Given the description of an element on the screen output the (x, y) to click on. 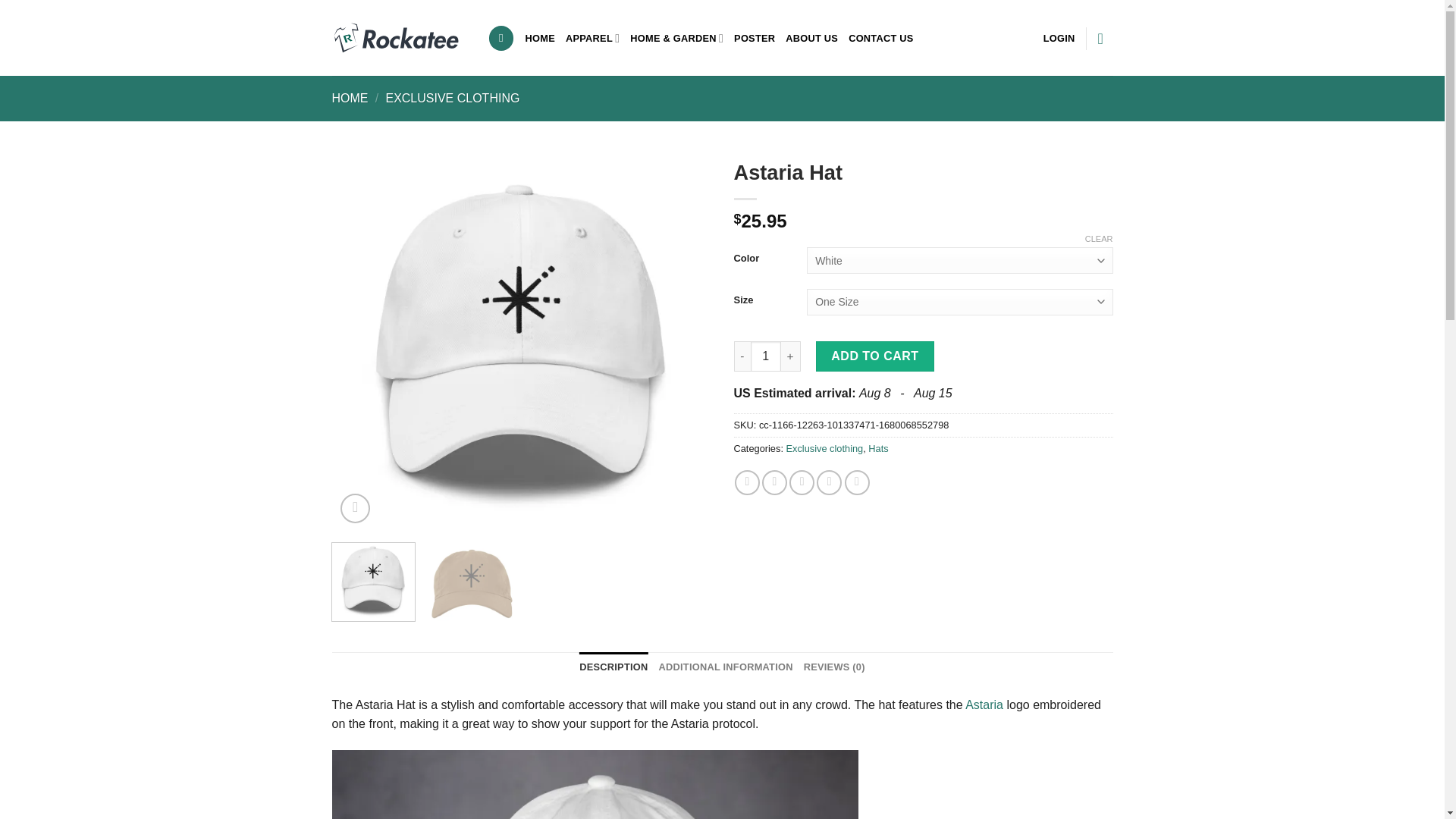
CONTACT US (881, 38)
POSTER (753, 38)
Share on LinkedIn (856, 482)
Zoom (354, 508)
Share on Twitter (774, 482)
ABOUT US (812, 38)
LOGIN (1059, 38)
APPAREL (593, 38)
Exclusive clothing (824, 448)
Astaria (984, 704)
EXCLUSIVE CLOTHING (452, 97)
CLEAR (1098, 238)
1 (765, 356)
HOME (539, 38)
